Given the description of an element on the screen output the (x, y) to click on. 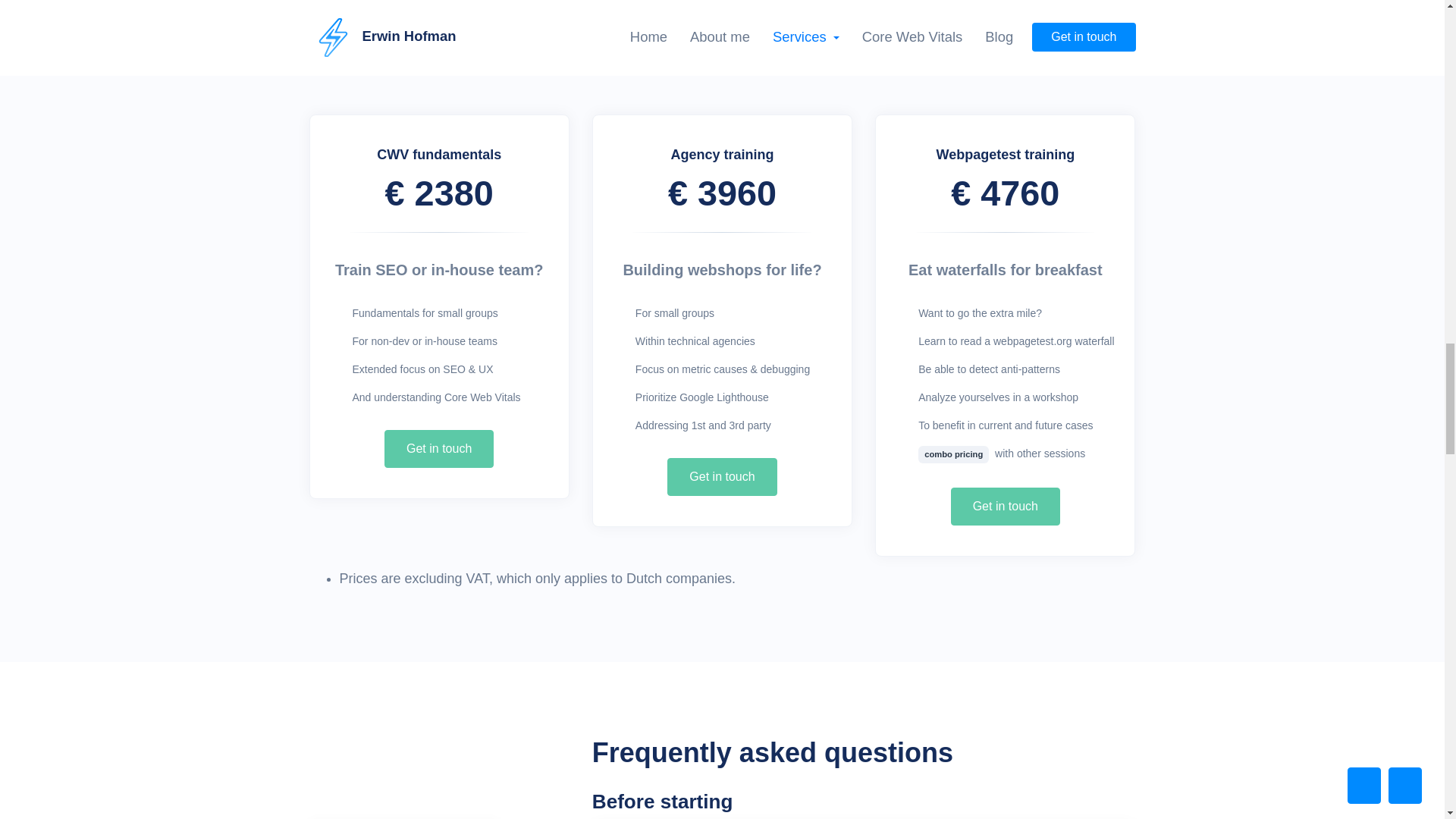
Get in touch (1004, 506)
Get in touch (721, 476)
Get in touch (438, 448)
